Given the description of an element on the screen output the (x, y) to click on. 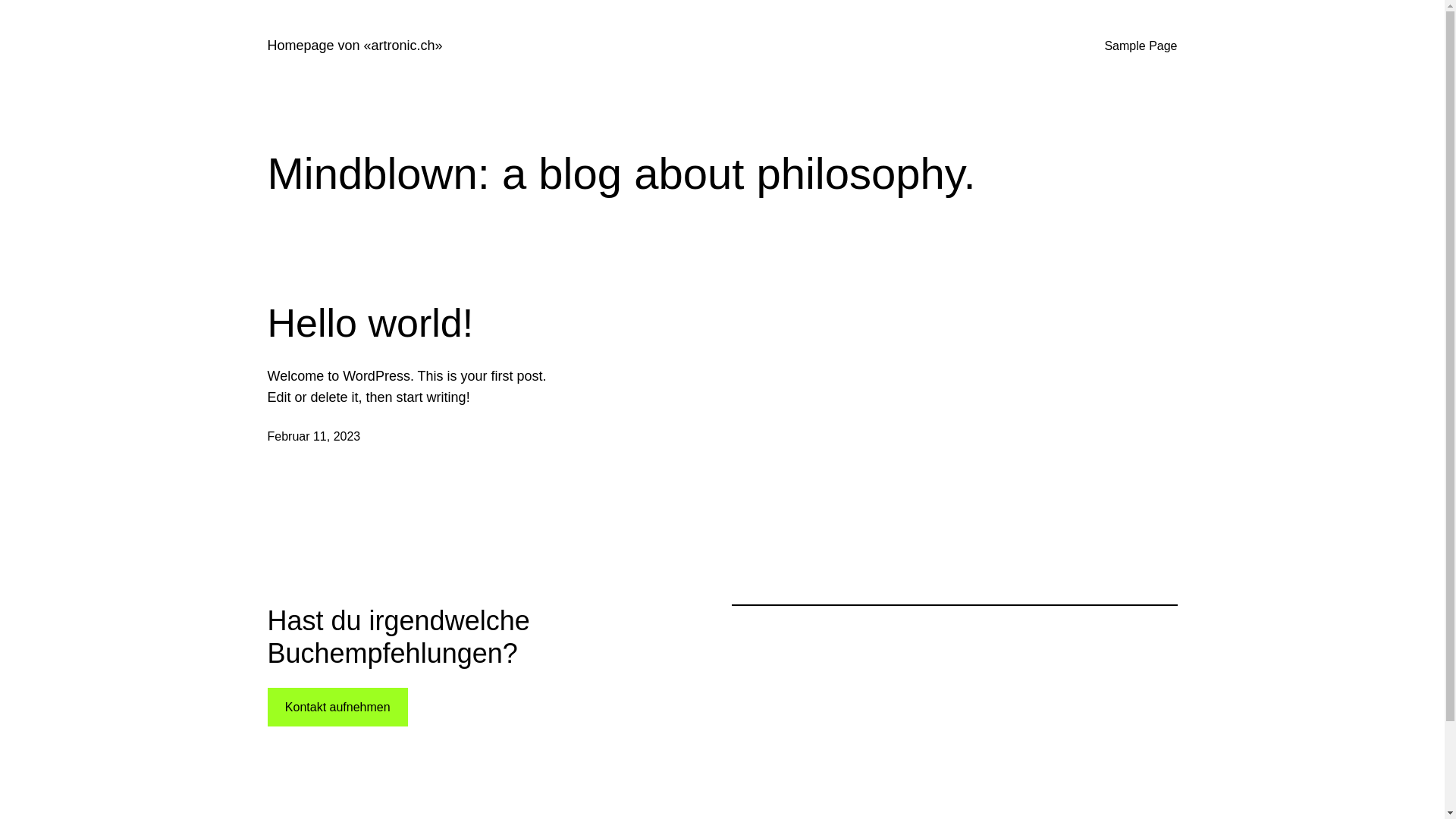
Hello world! Element type: text (369, 322)
Februar 11, 2023 Element type: text (313, 435)
Sample Page Element type: text (1140, 46)
Kontakt aufnehmen Element type: text (336, 706)
